Given the description of an element on the screen output the (x, y) to click on. 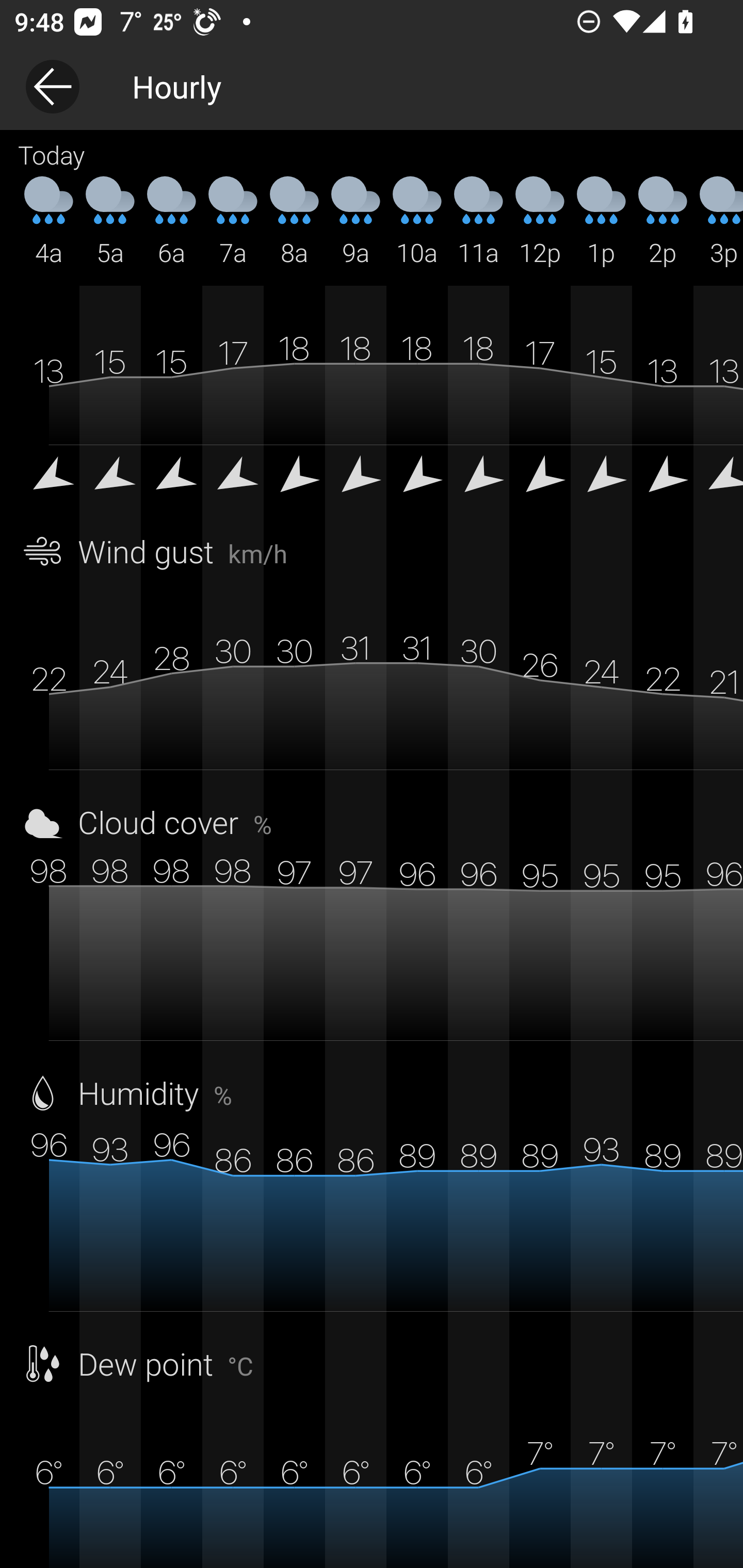
4a (48, 222)
5a (110, 222)
6a (171, 222)
7a (232, 222)
8a (294, 222)
9a (355, 222)
10a (417, 222)
11a (478, 222)
12p (539, 222)
1p (601, 222)
2p (662, 222)
3p (718, 222)
 (48, 480)
 (110, 480)
 (171, 480)
 (232, 480)
 (294, 480)
 (355, 480)
 (417, 480)
 (478, 480)
 (539, 480)
 (601, 480)
 (662, 480)
 (718, 480)
